Given the description of an element on the screen output the (x, y) to click on. 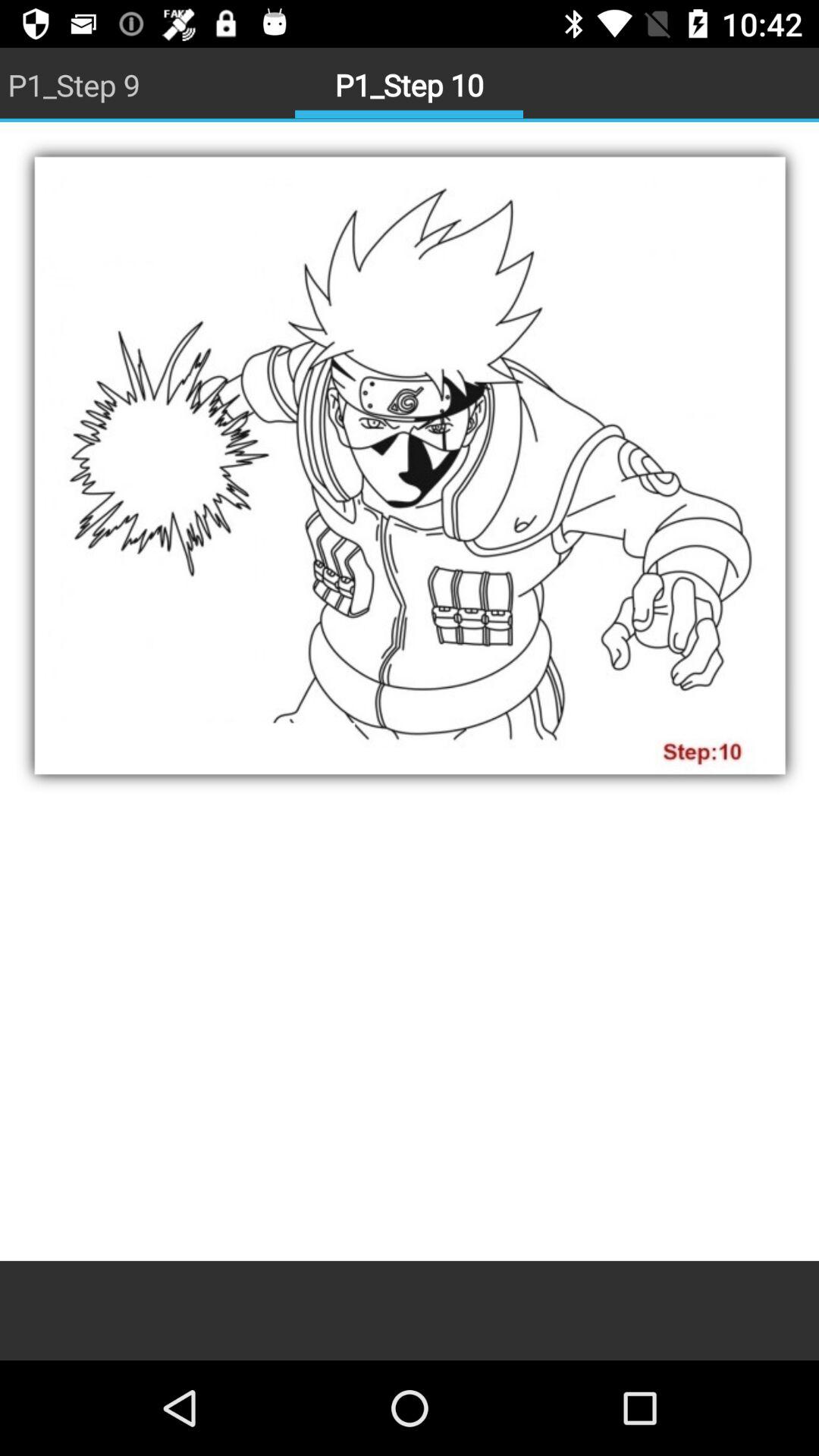
app main window (409, 691)
